Given the description of an element on the screen output the (x, y) to click on. 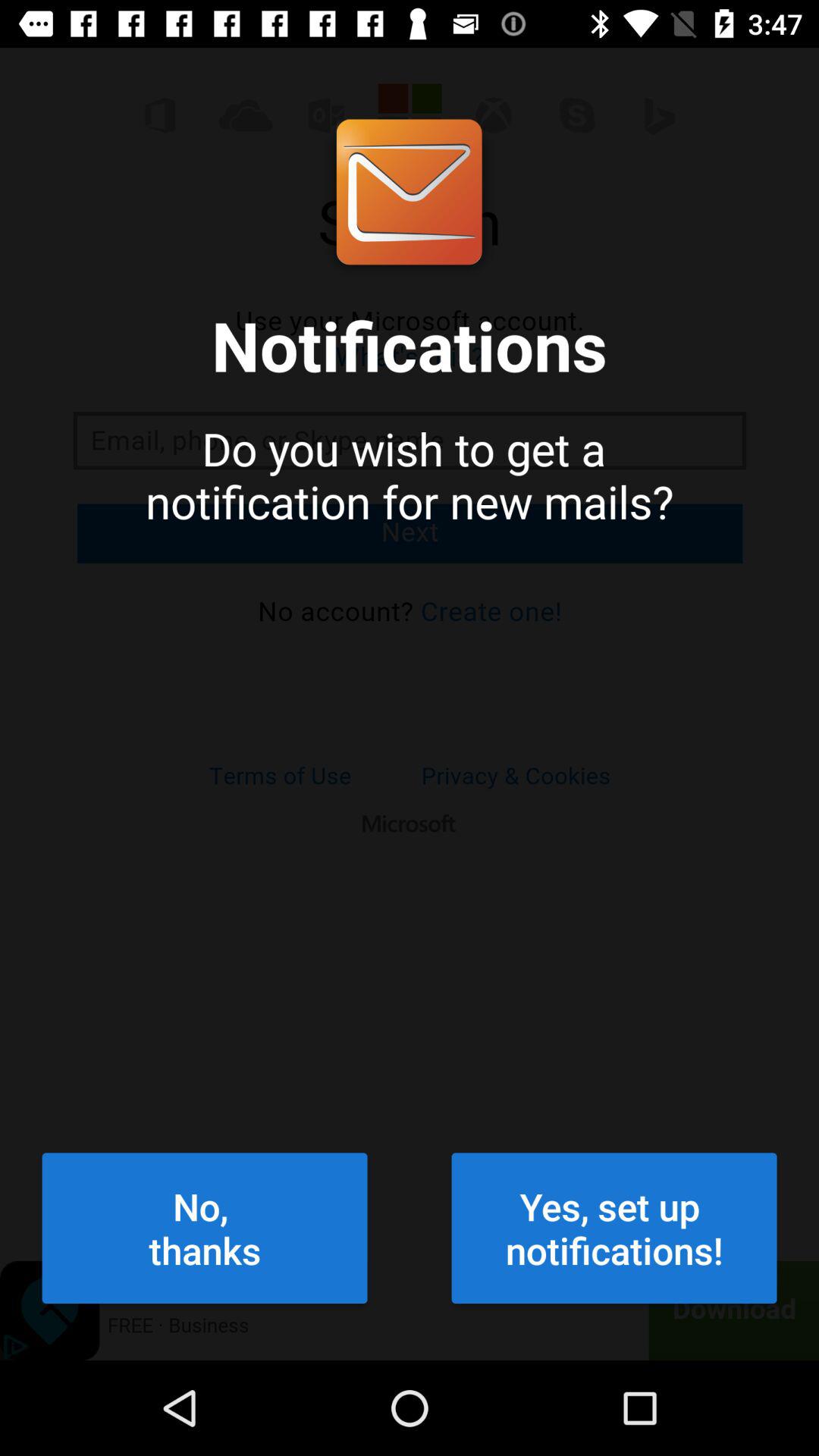
choose item next to the yes set up icon (204, 1227)
